Given the description of an element on the screen output the (x, y) to click on. 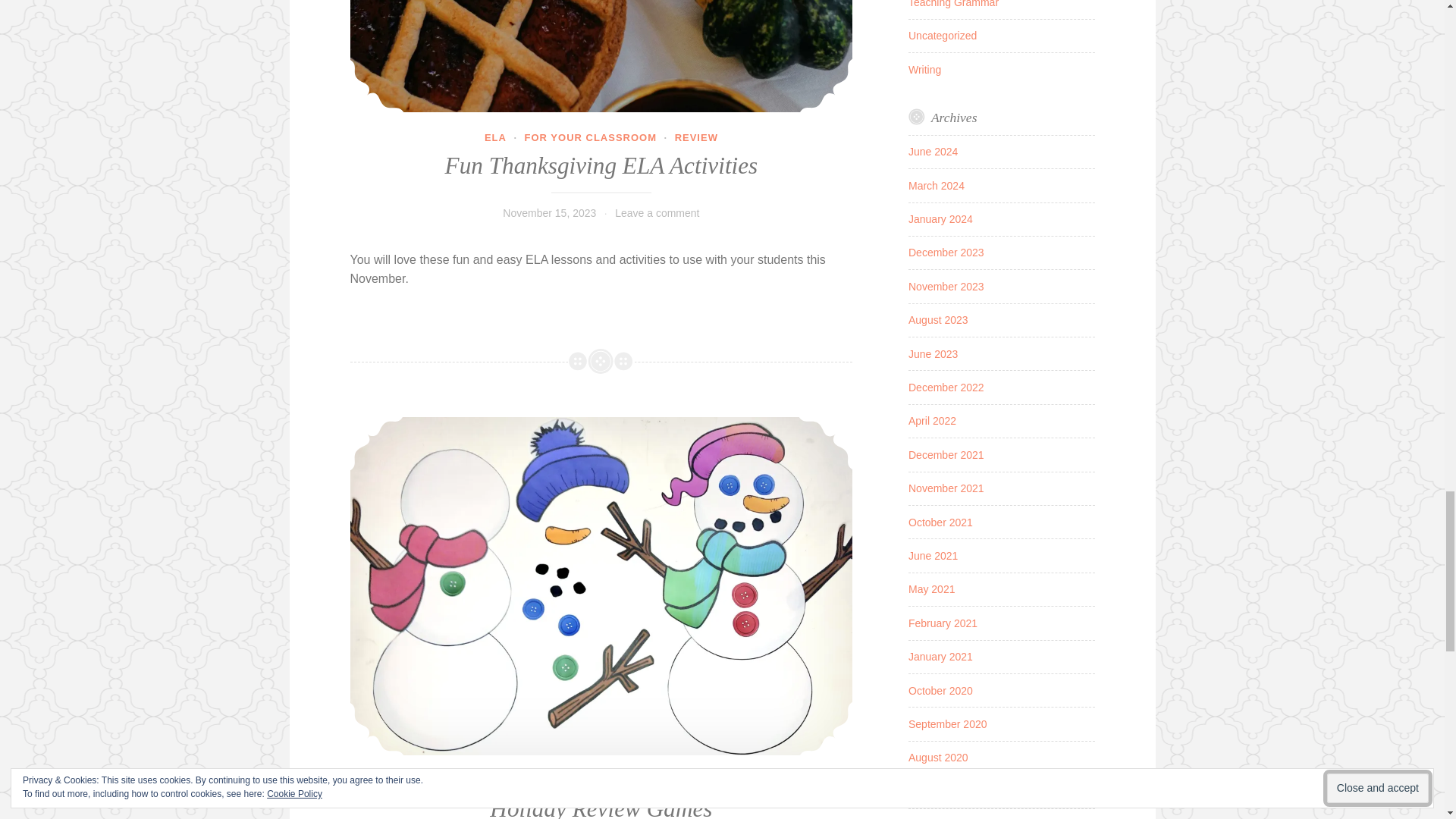
Leave a comment (656, 213)
REVIEW (675, 780)
Fun Thanksgiving ELA Activities (601, 56)
FOR YOUR CLASSROOM (570, 780)
ELA (495, 137)
Holiday Review Games (600, 807)
November 15, 2023 (548, 213)
REVIEW (696, 137)
Fun Thanksgiving ELA Activities (601, 56)
Fun Thanksgiving ELA Activities (601, 165)
FOR YOUR CLASSROOM (591, 137)
